Given the description of an element on the screen output the (x, y) to click on. 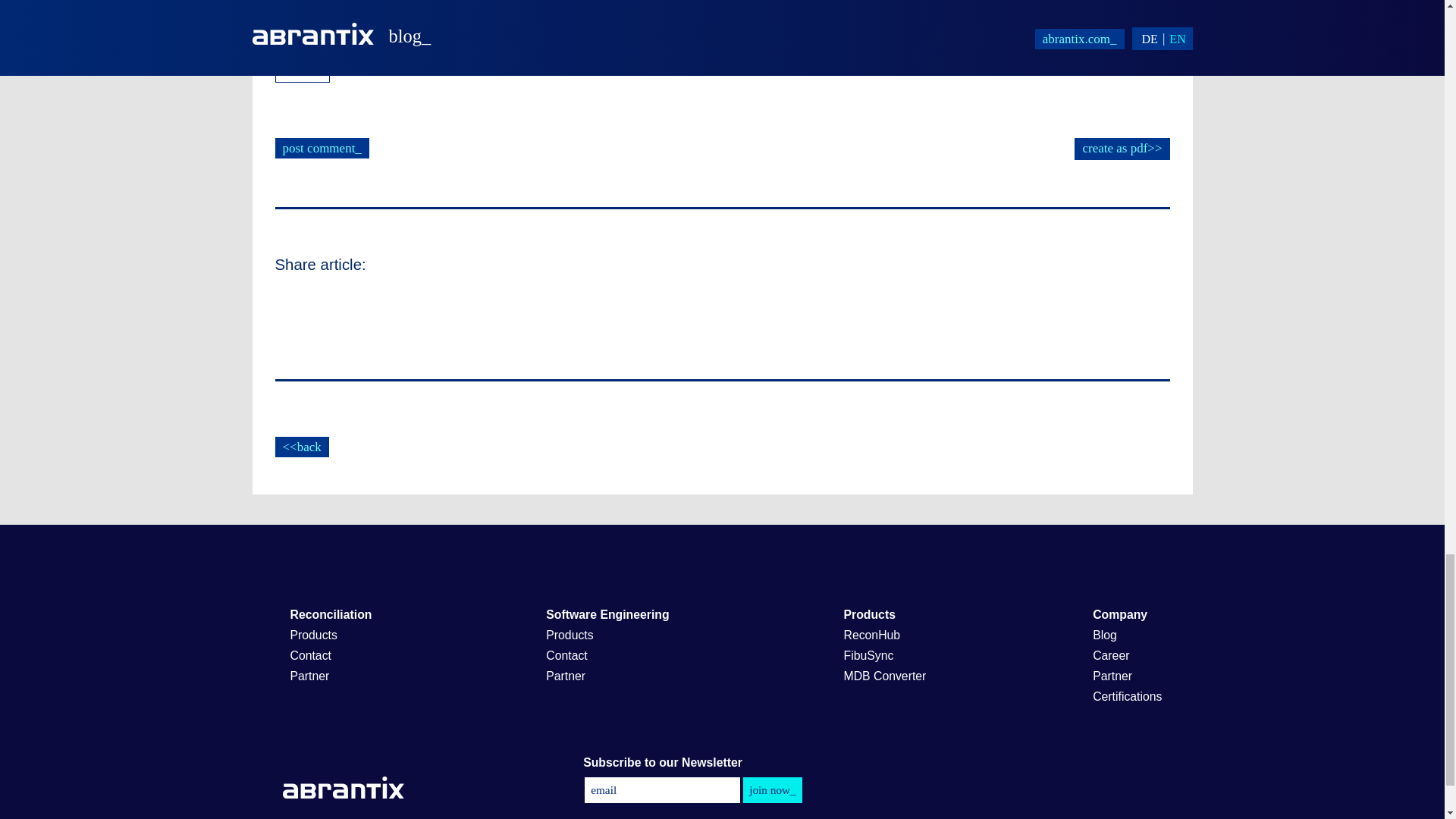
abrantix (301, 68)
Products (330, 634)
Products (880, 614)
Partner (1123, 675)
Blog (1072, 789)
Certifications (1127, 696)
share on Twitter (393, 312)
MDB Converter (884, 675)
share on LinkedIn (293, 312)
Products (607, 634)
